Given the description of an element on the screen output the (x, y) to click on. 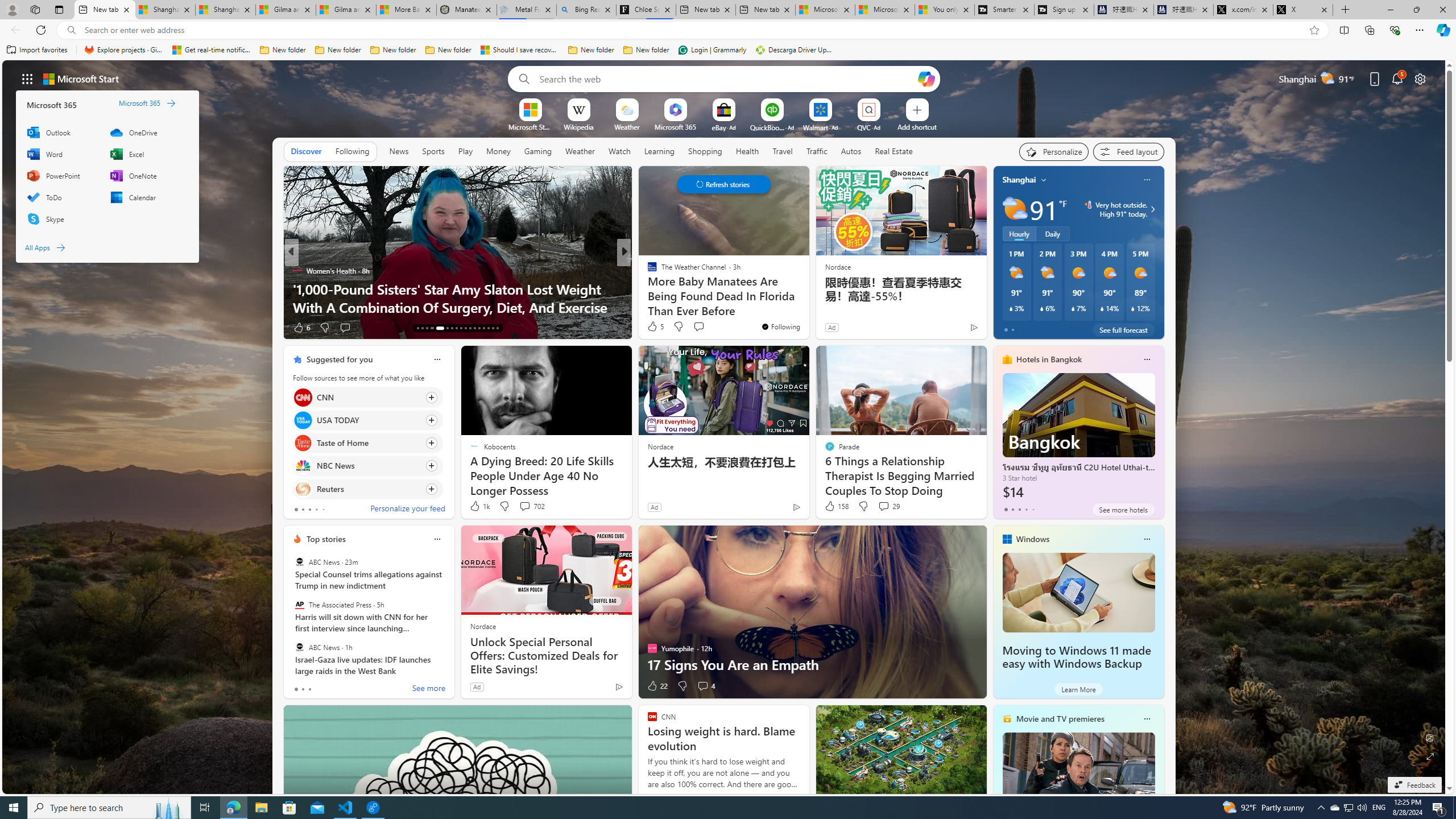
View comments 702 Comment (530, 505)
Click to follow source CNN (367, 397)
Hourly (1018, 233)
View comments 247 Comment (709, 327)
5 Like (655, 326)
View comments 2 Comment (702, 327)
